Given the description of an element on the screen output the (x, y) to click on. 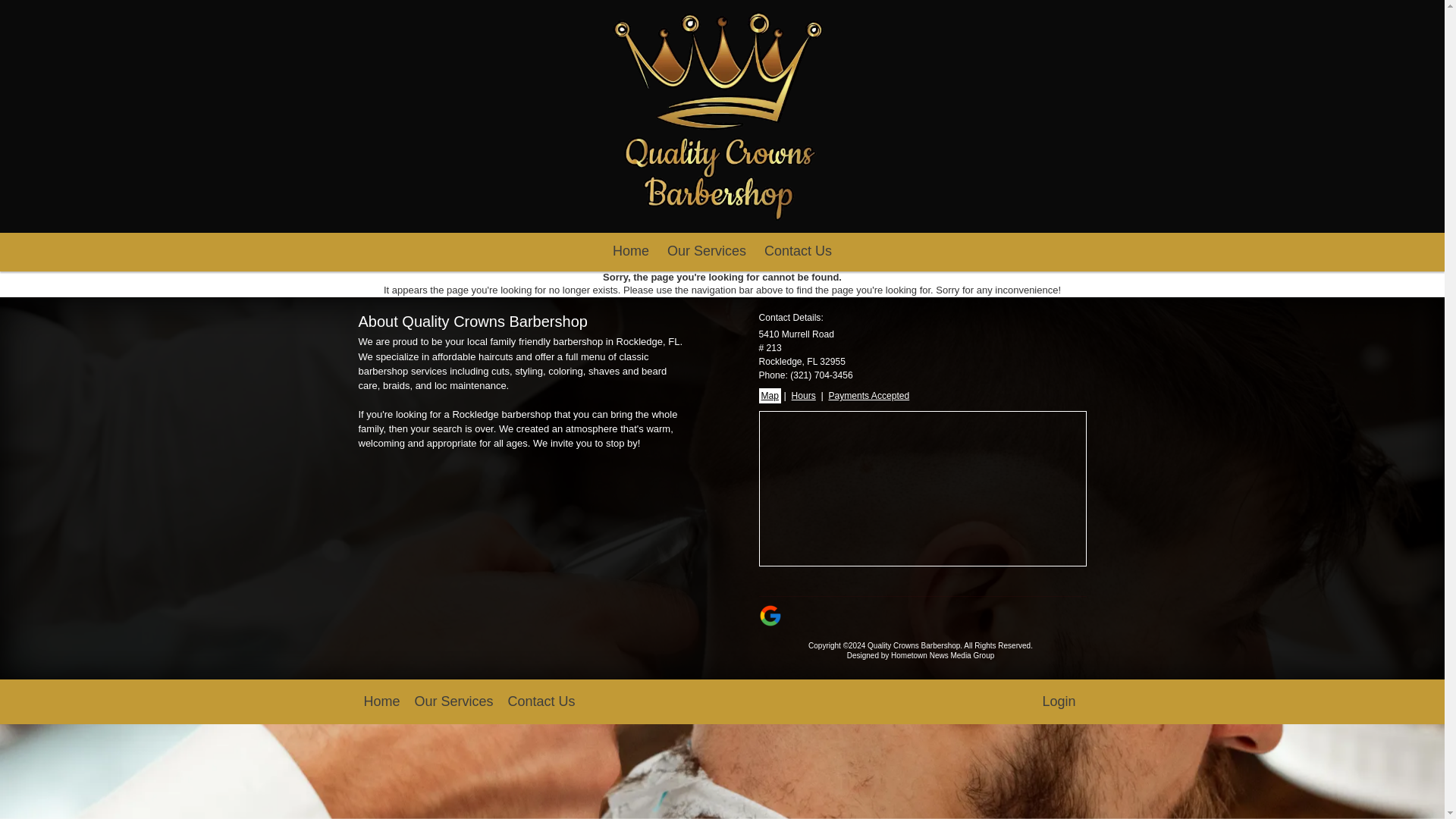
Home (631, 251)
Designed by Hometown News Media Group (920, 655)
Hours (803, 395)
Our Services (706, 251)
Map (769, 395)
Contact Us (798, 251)
Payments Accepted (868, 395)
